Given the description of an element on the screen output the (x, y) to click on. 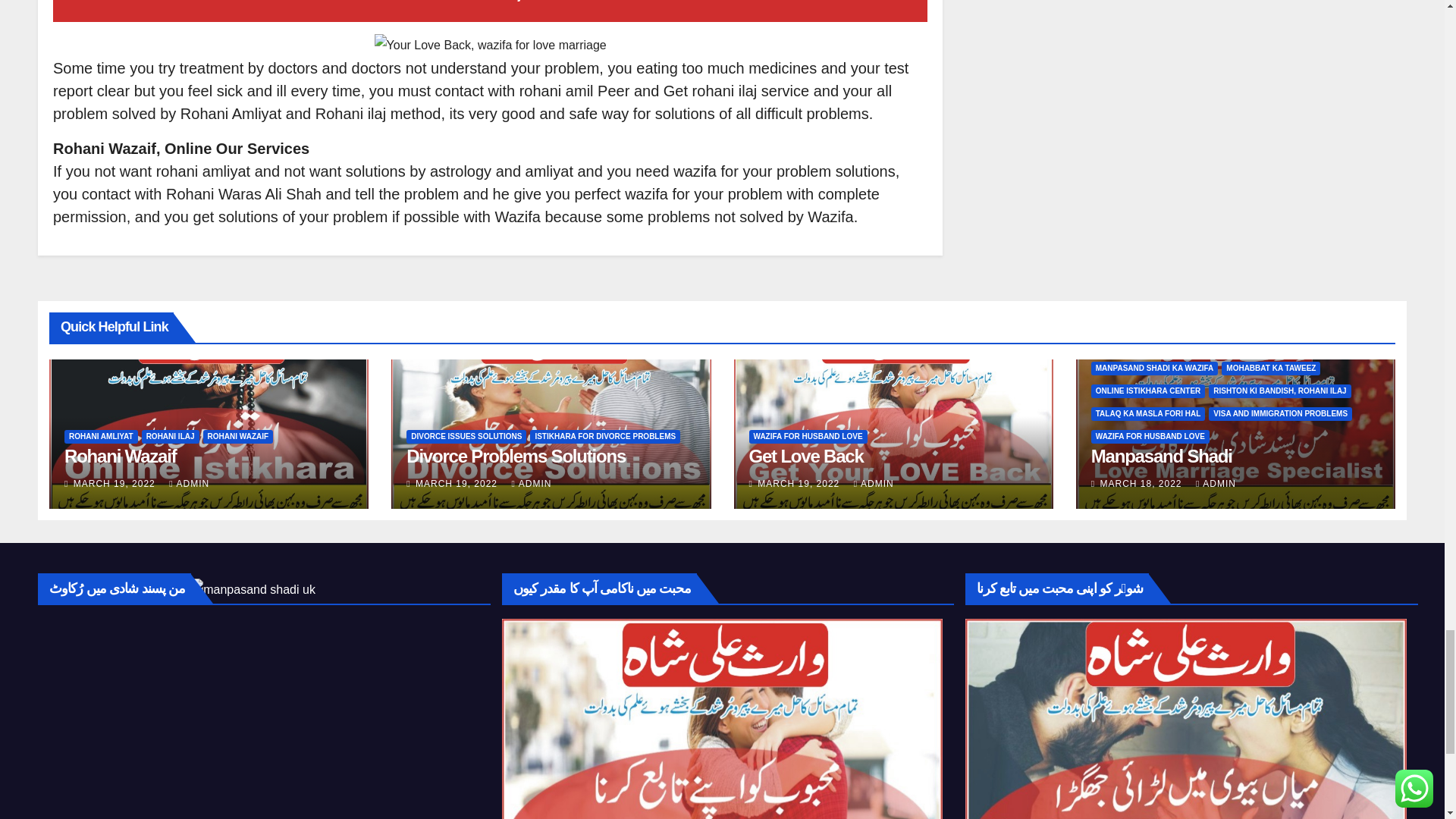
Permalink to: Manpasand Shadi (1160, 455)
Permalink to: Divorce Problems Solutions (516, 455)
Permalink to: Rohani Wazaif (120, 455)
Permalink to: Get Love Back (806, 455)
